Given the description of an element on the screen output the (x, y) to click on. 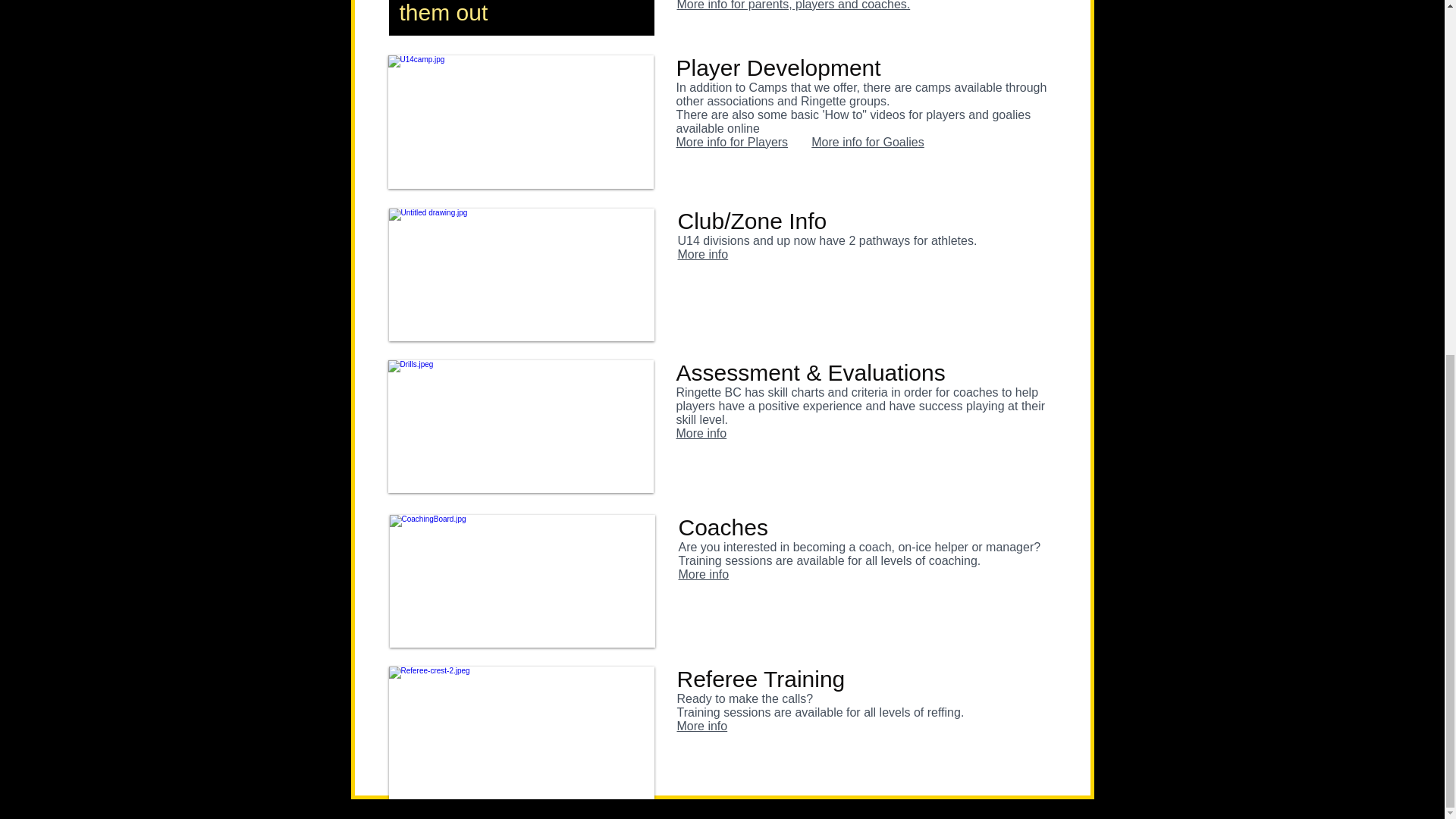
More info for parents, players and coaches. (793, 5)
More info (703, 254)
More info for Players (733, 141)
More info (701, 432)
More info (701, 725)
More info for Goalies (867, 141)
More info (703, 574)
